Given the description of an element on the screen output the (x, y) to click on. 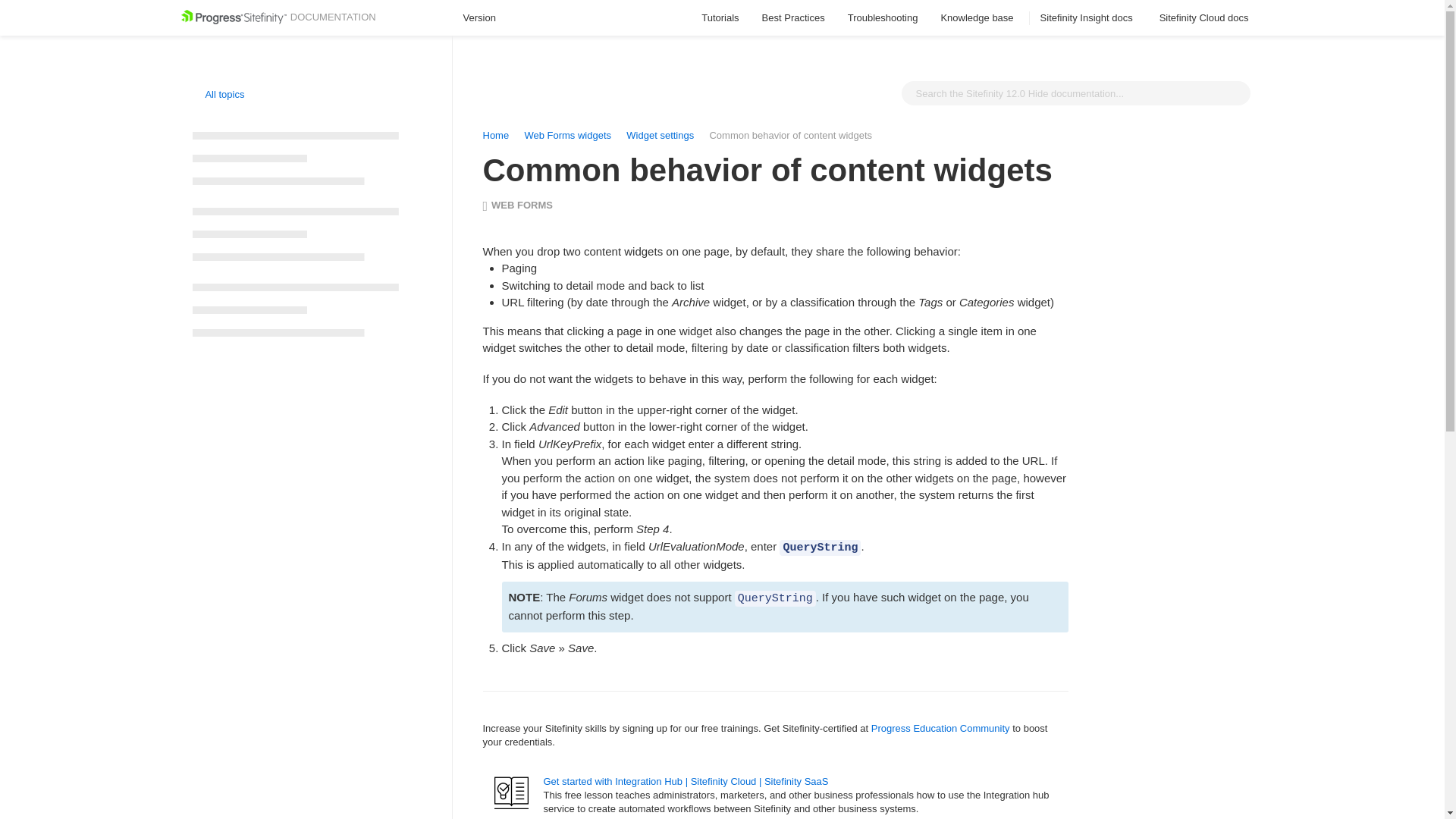
Knowledge base (977, 18)
Home (494, 134)
Widget settings (661, 134)
Sitefinity Cloud docs (1205, 18)
All topics (218, 93)
Web Forms widgets (567, 134)
Best Practices (793, 18)
Troubleshooting (882, 18)
DOCUMENTATION (277, 16)
Sitefinity Insight docs (1088, 18)
Version (486, 18)
Search (1234, 93)
Progress Education Community (940, 727)
Tutorials (719, 18)
